Given the description of an element on the screen output the (x, y) to click on. 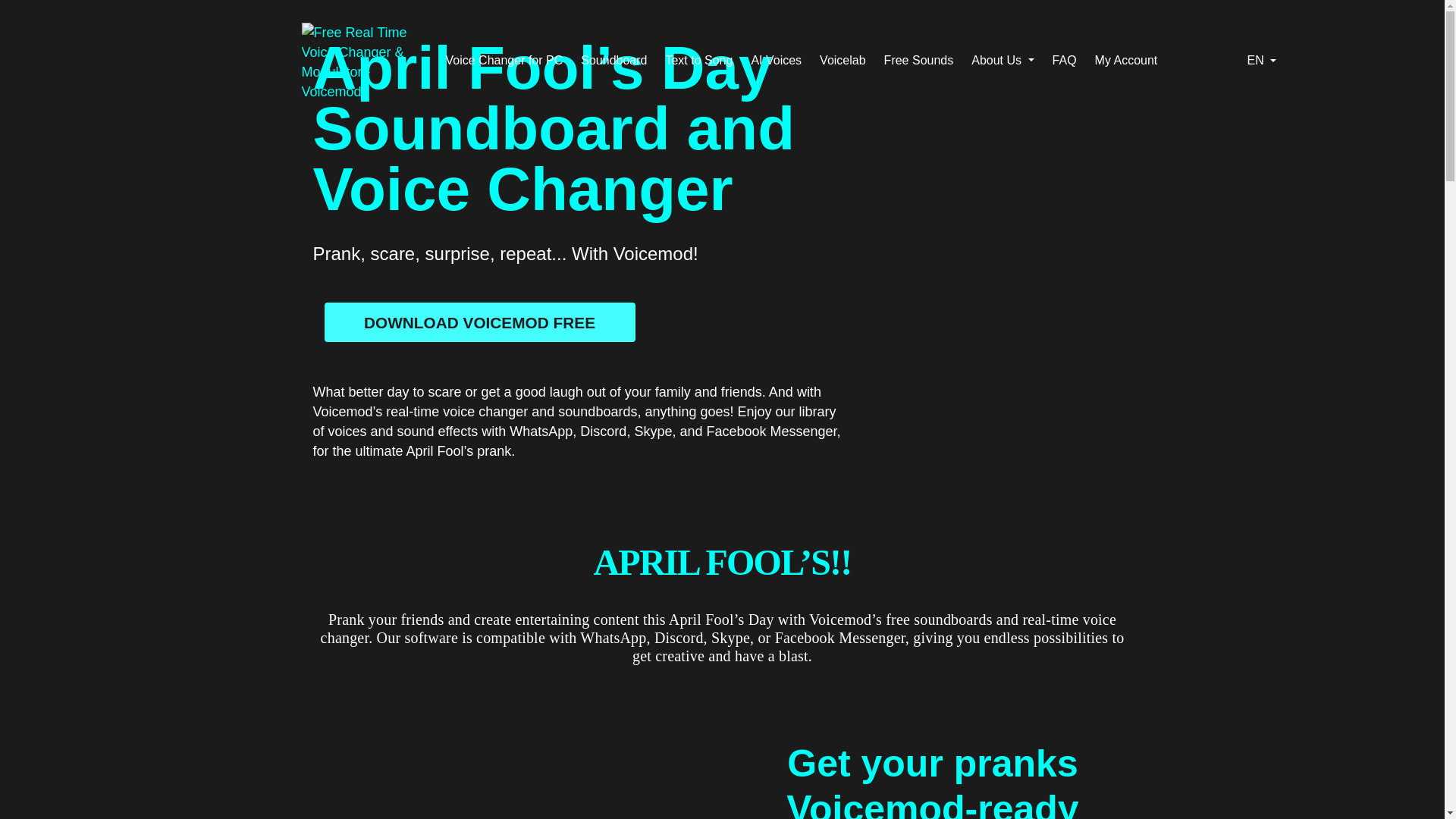
About Us (1002, 60)
Soundboard (613, 60)
Voice Changer for PC (504, 60)
FAQ (1064, 60)
DOWNLOAD VOICEMOD FREE (479, 322)
Voicelab (842, 60)
My Account (1125, 60)
Free Sounds (918, 60)
Soundboard (613, 60)
AI Voices (776, 60)
Voice Changer for PC (504, 60)
FAQ (1064, 60)
My Account (1125, 60)
About Us (1002, 60)
Text to Song (698, 60)
